Given the description of an element on the screen output the (x, y) to click on. 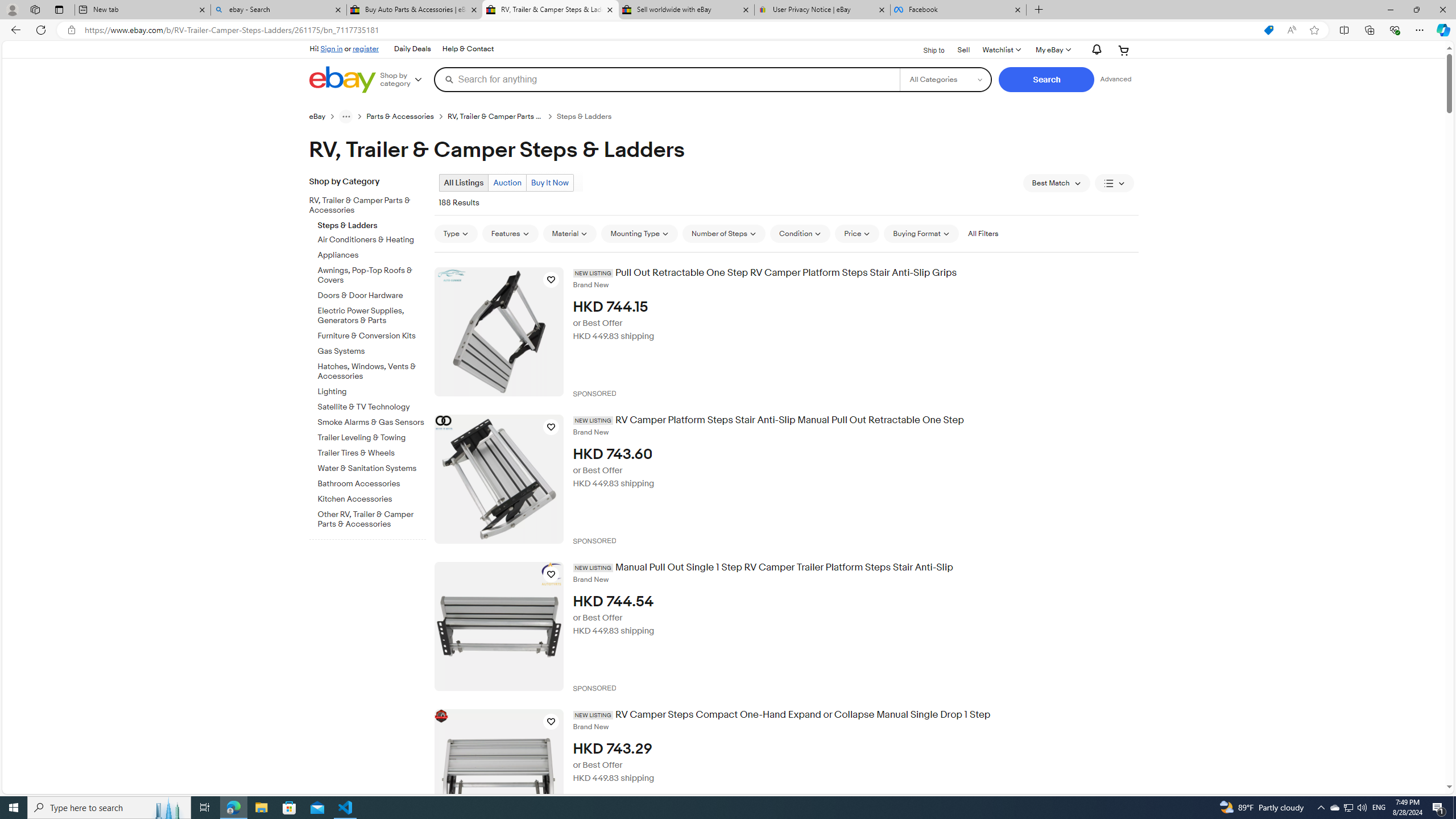
Electric Power Supplies, Generators & Parts (371, 316)
Awnings, Pop-Top Roofs & Covers (371, 275)
Appliances (371, 253)
Hatches, Windows, Vents & Accessories (371, 369)
Other RV, Trailer & Camper Parts & Accessories (371, 517)
Other RV, Trailer & Camper Parts & Accessories (371, 519)
Sell (963, 49)
Minimize (1390, 9)
Auction (506, 182)
Address and search bar (669, 29)
All Listings Current view (464, 182)
New Tab (1038, 9)
